Given the description of an element on the screen output the (x, y) to click on. 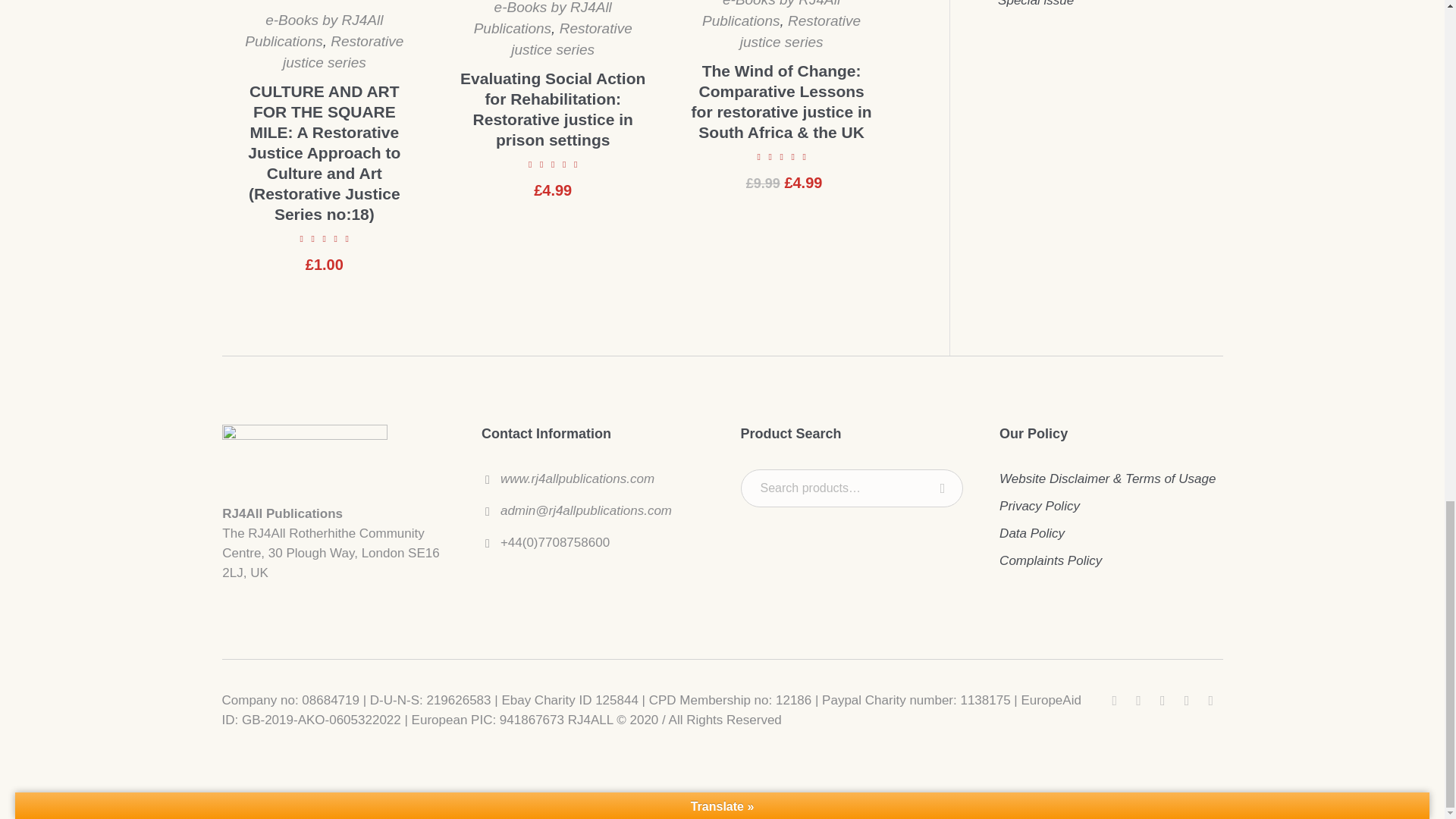
Rated 5.00 out of 5 (781, 156)
Rated 0 out of 5 (324, 238)
Rated 0 out of 5 (552, 163)
